Given the description of an element on the screen output the (x, y) to click on. 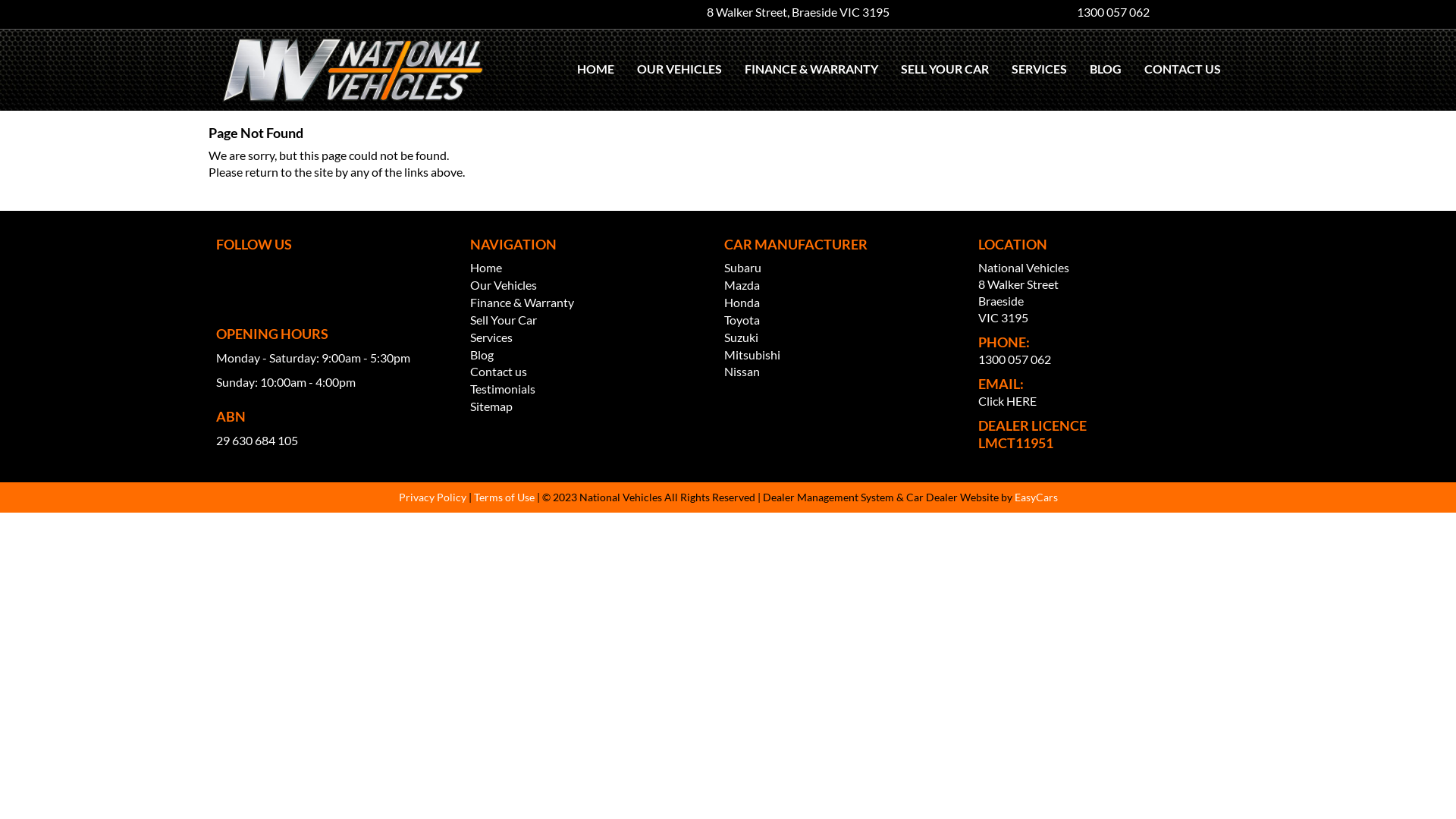
OUR VEHICLES Element type: text (679, 68)
Nissan Element type: text (741, 371)
Visit our facebook page Element type: hover (219, 275)
Privacy Policy Element type: text (433, 496)
BLOG Element type: text (1105, 68)
FINANCE & WARRANTY Element type: text (811, 68)
Suzuki Element type: text (741, 336)
Toyota Element type: text (741, 319)
Blog Element type: text (481, 354)
Visit our Instagram page Element type: hover (227, 275)
Testimonials Element type: text (502, 388)
Our Vehicles Element type: text (503, 284)
Finance & Warranty Element type: text (522, 301)
Sell Your Car Element type: text (503, 319)
SELL YOUR CAR Element type: text (944, 68)
Contact us Element type: text (498, 371)
Mazda Element type: text (741, 284)
Subaru Element type: text (742, 267)
EasyCars Element type: text (1035, 496)
HOME Element type: text (595, 68)
1300 057 062 Element type: text (1014, 358)
Home Element type: text (486, 267)
Mitsubishi Element type: text (752, 354)
CONTACT US Element type: text (1178, 68)
Services Element type: text (491, 336)
Click HERE Element type: text (1007, 400)
Sitemap Element type: text (491, 405)
National Vehicles Element type: hover (352, 70)
Terms of Use Element type: text (504, 496)
SERVICES Element type: text (1039, 68)
8 Walker Street, Braeside VIC 3195 Element type: text (794, 11)
Honda Element type: text (741, 301)
1300 057 062 Element type: text (1109, 11)
